Given the description of an element on the screen output the (x, y) to click on. 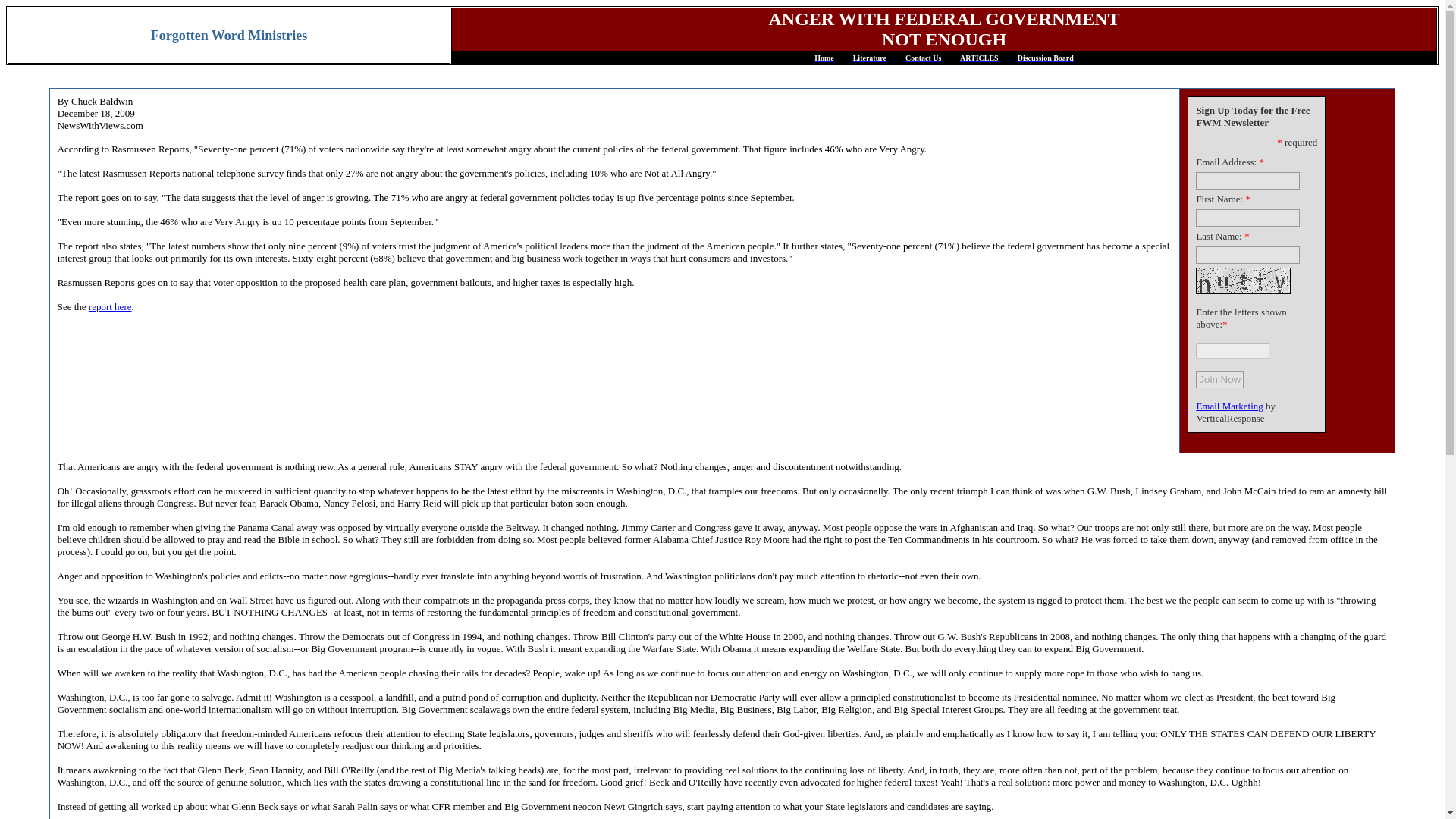
Discussion Board (1045, 58)
Contact Us (923, 58)
Email Marketing by VerticalResponse (1228, 405)
ARTICLES (978, 58)
Join Now (1219, 379)
Home (823, 58)
report here (110, 306)
Literature (869, 58)
Email Marketing (1228, 405)
Join Now (1219, 379)
